Given the description of an element on the screen output the (x, y) to click on. 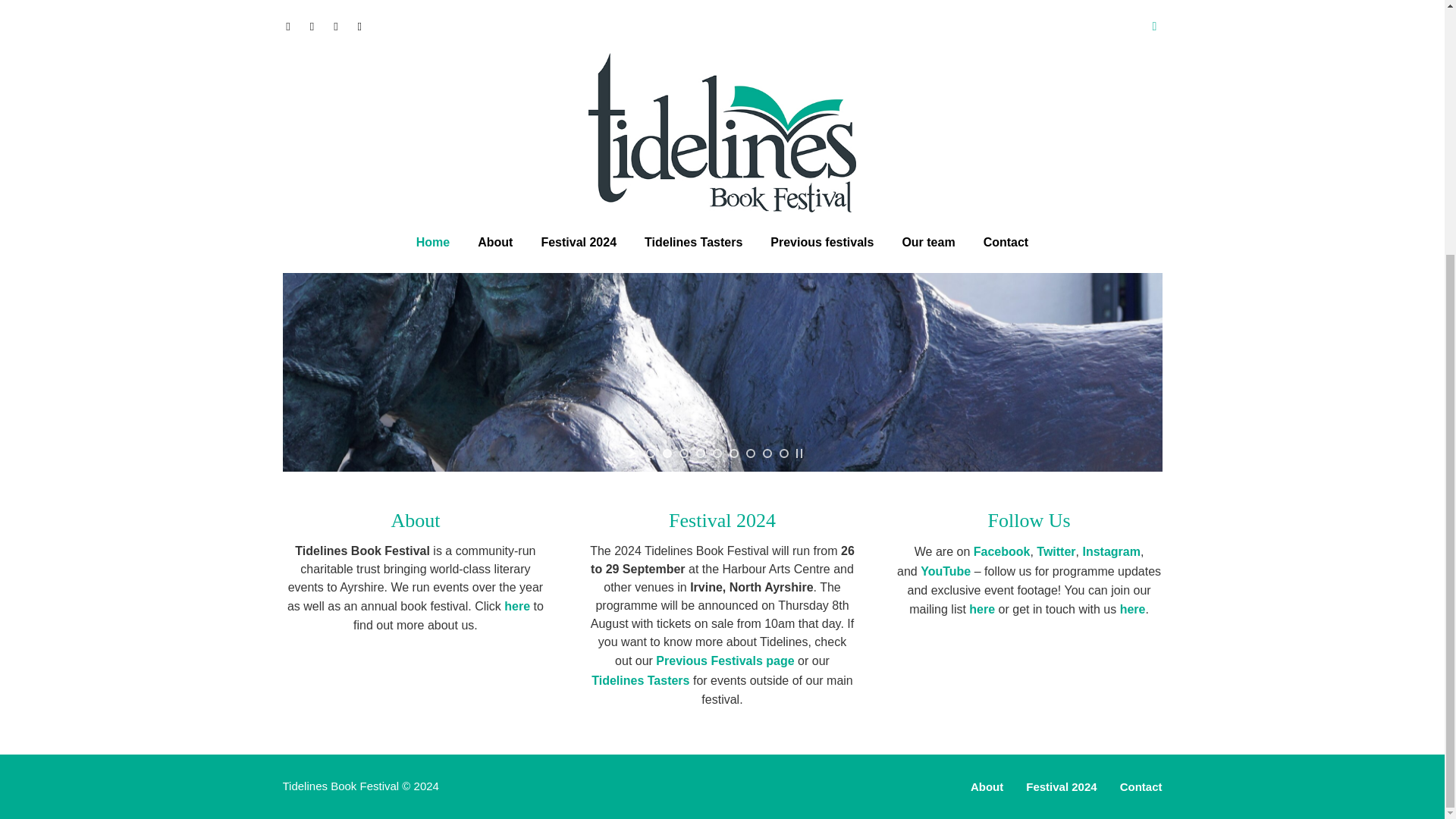
Previous Festivals page (724, 660)
here (516, 605)
